Given the description of an element on the screen output the (x, y) to click on. 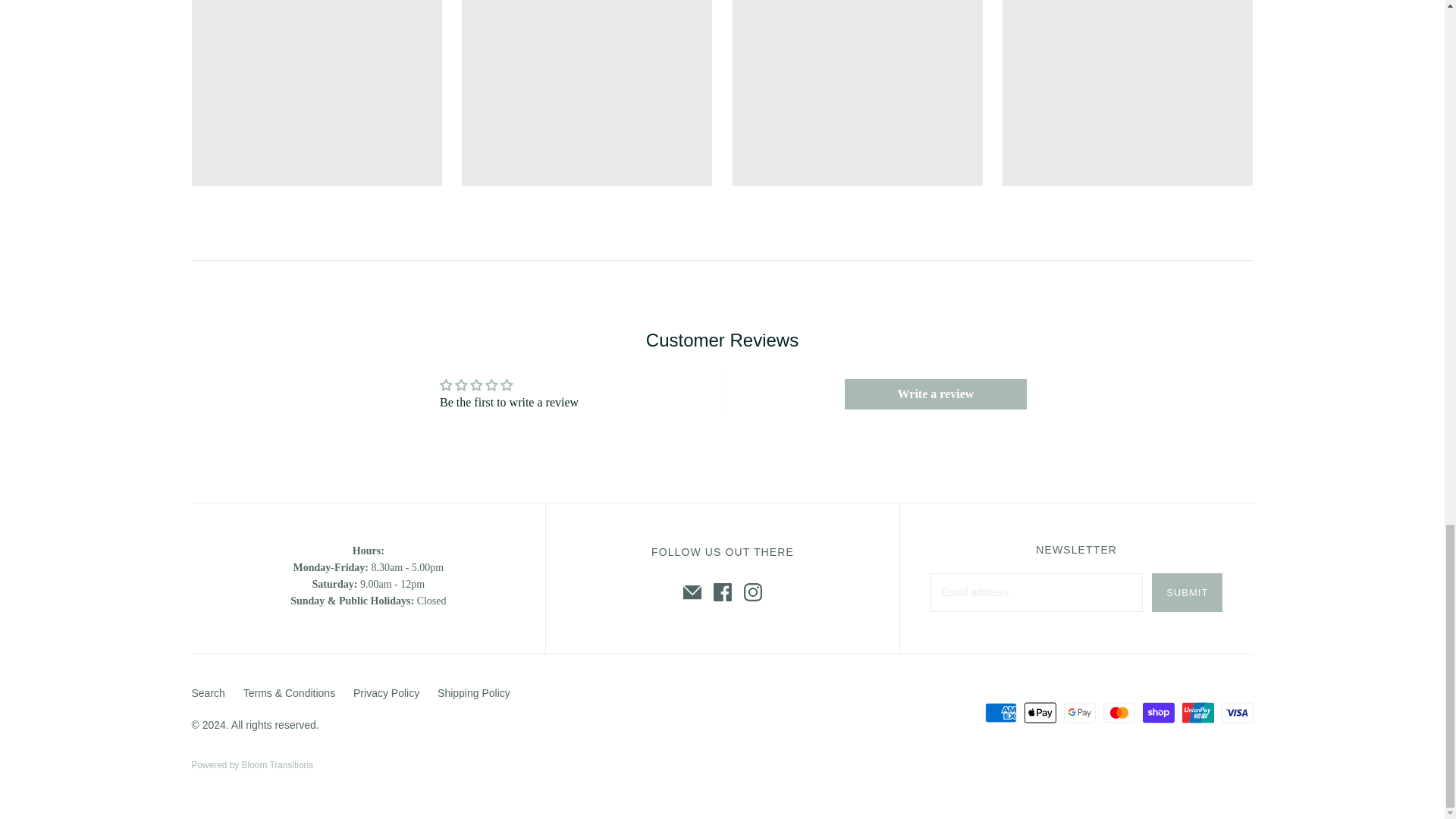
American Express (1000, 712)
Google Pay (1080, 712)
Apple Pay (1041, 712)
Submit (1187, 592)
